Given the description of an element on the screen output the (x, y) to click on. 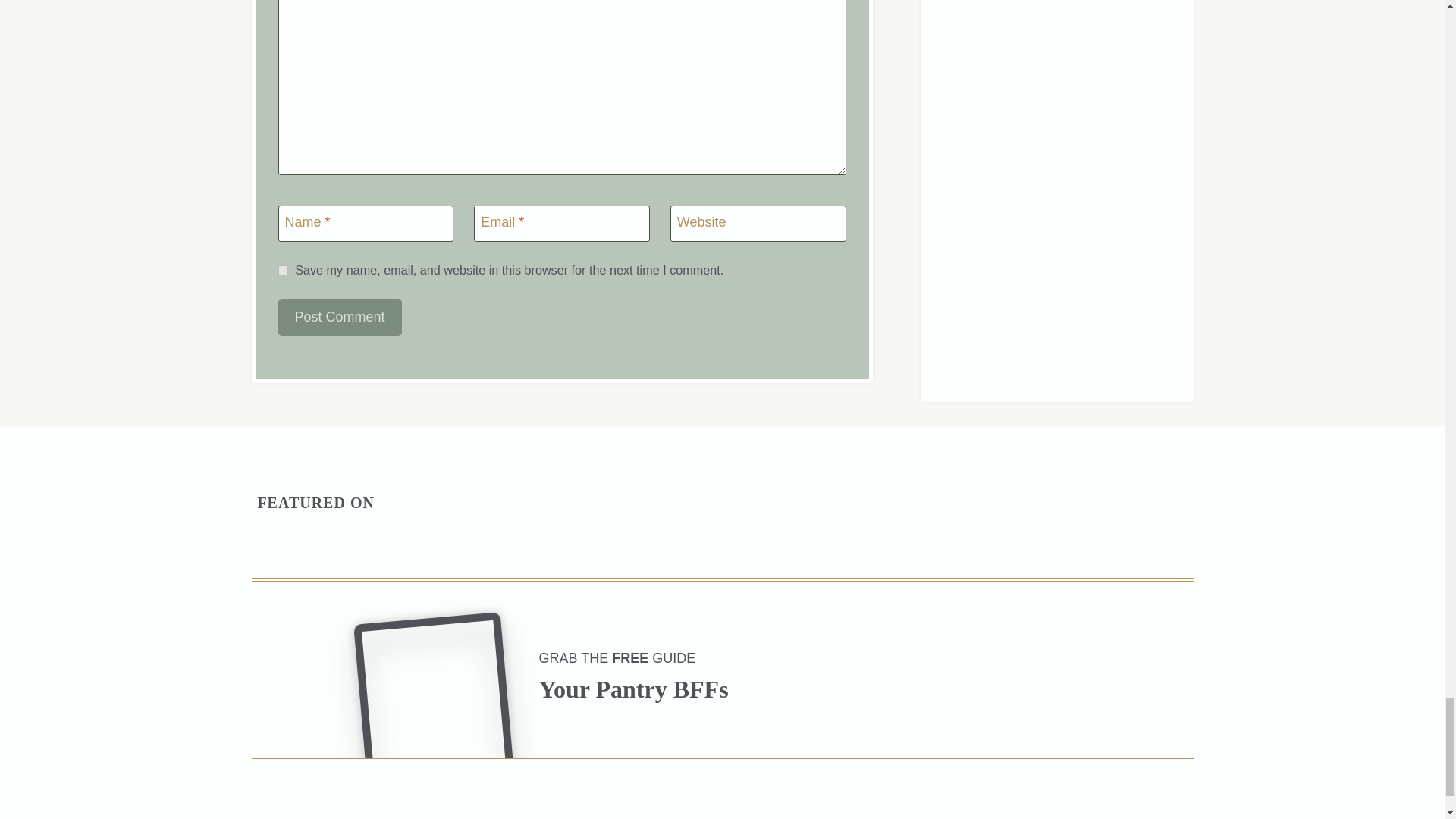
yes (282, 270)
Post Comment (339, 316)
